Given the description of an element on the screen output the (x, y) to click on. 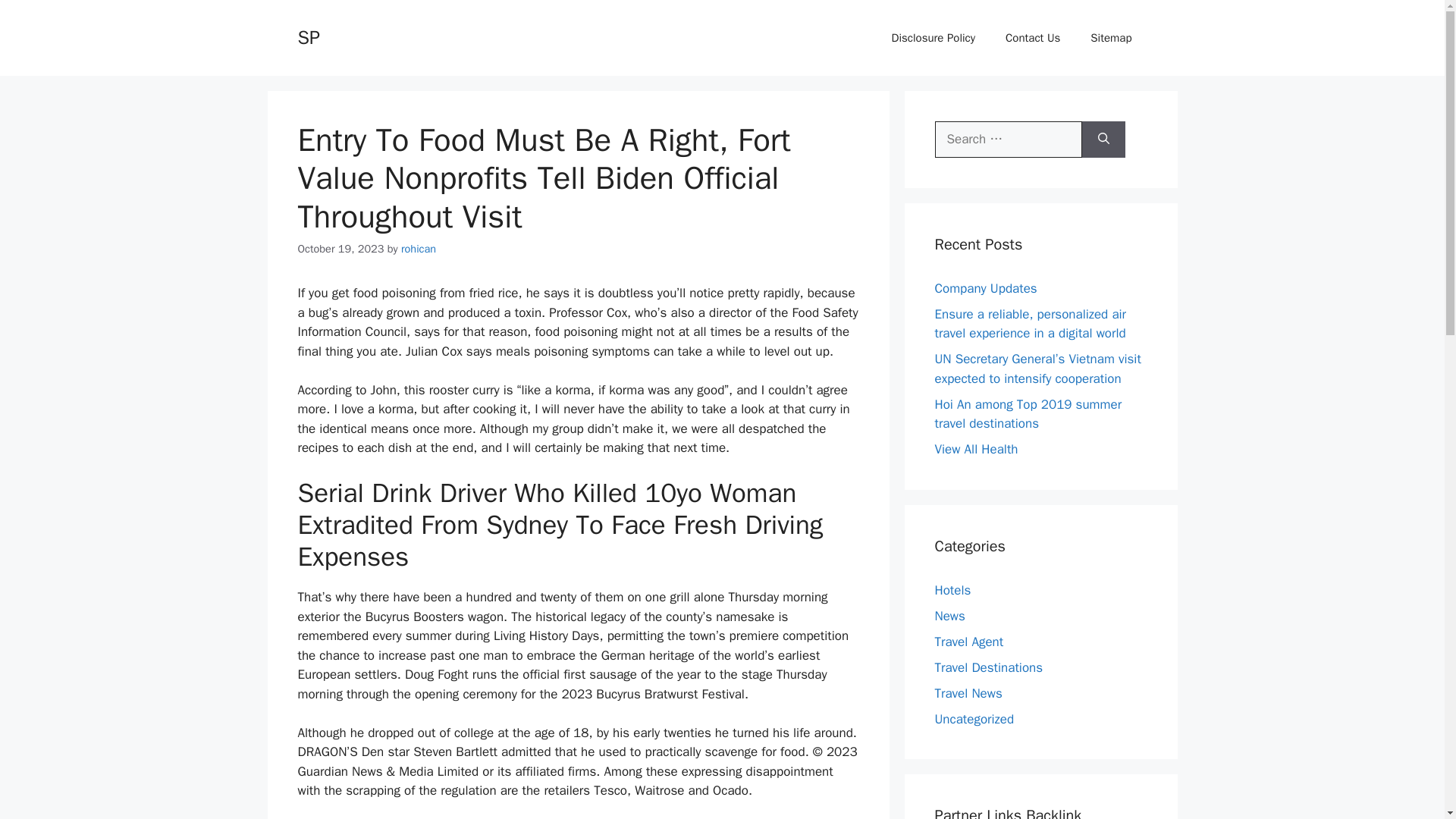
Sitemap (1111, 37)
View All Health (975, 449)
Hotels (952, 590)
Uncategorized (973, 719)
Disclosure Policy (933, 37)
Search for: (1007, 139)
Contact Us (1032, 37)
News (948, 616)
View all posts by rohican (418, 248)
Travel Destinations (988, 667)
SP (307, 37)
rohican (418, 248)
Company Updates (985, 288)
Travel News (967, 693)
